Given the description of an element on the screen output the (x, y) to click on. 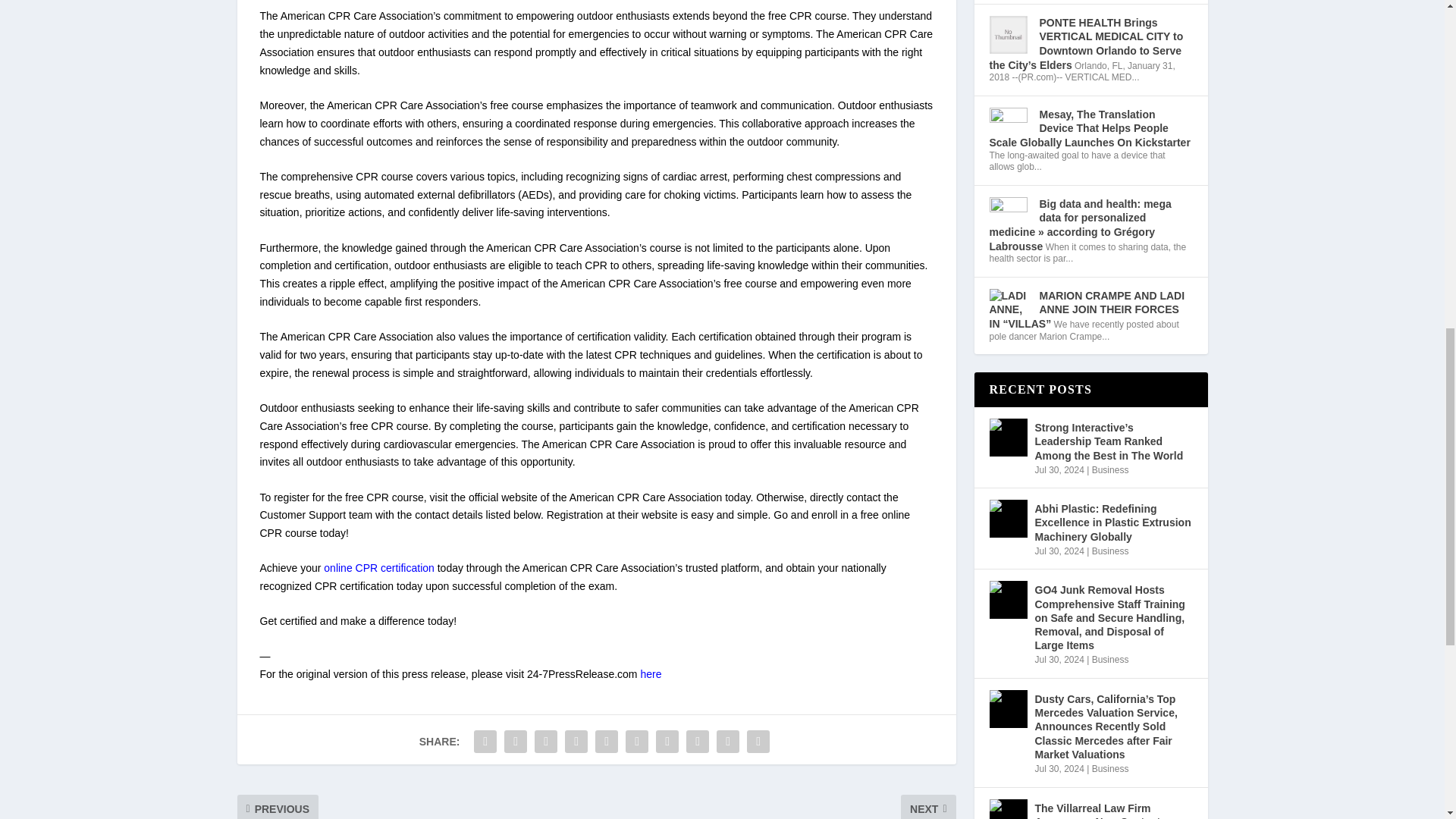
online CPR certification (378, 567)
here (650, 674)
